Given the description of an element on the screen output the (x, y) to click on. 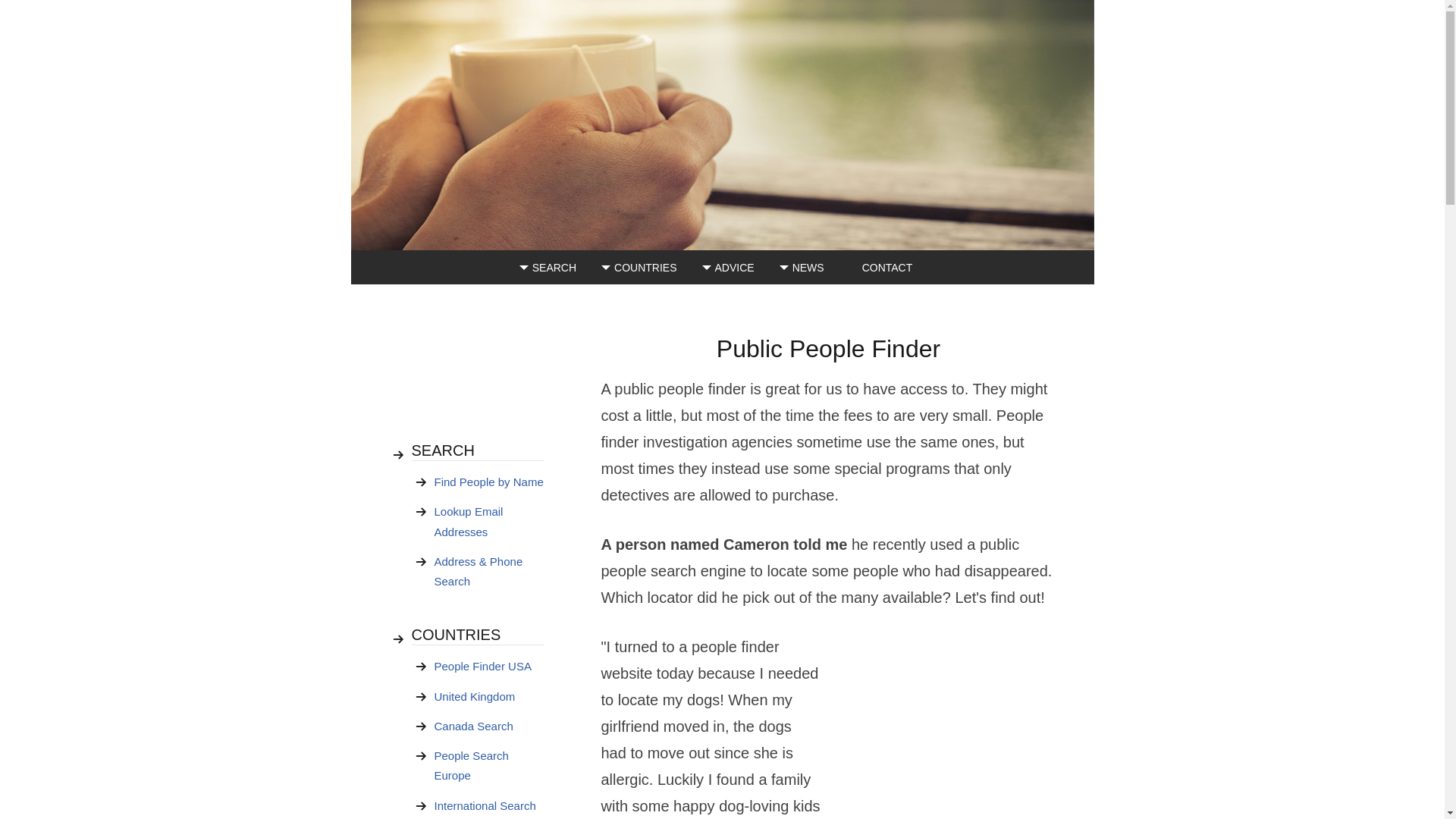
People Finder USA (488, 666)
Find People by Name (488, 482)
International Search (488, 805)
United Kingdom (488, 696)
CONTACT (887, 267)
Advertisement (941, 726)
Canada Search (488, 726)
Lookup Email Addresses (488, 521)
Advertisement (464, 375)
People Search Europe (488, 766)
